Given the description of an element on the screen output the (x, y) to click on. 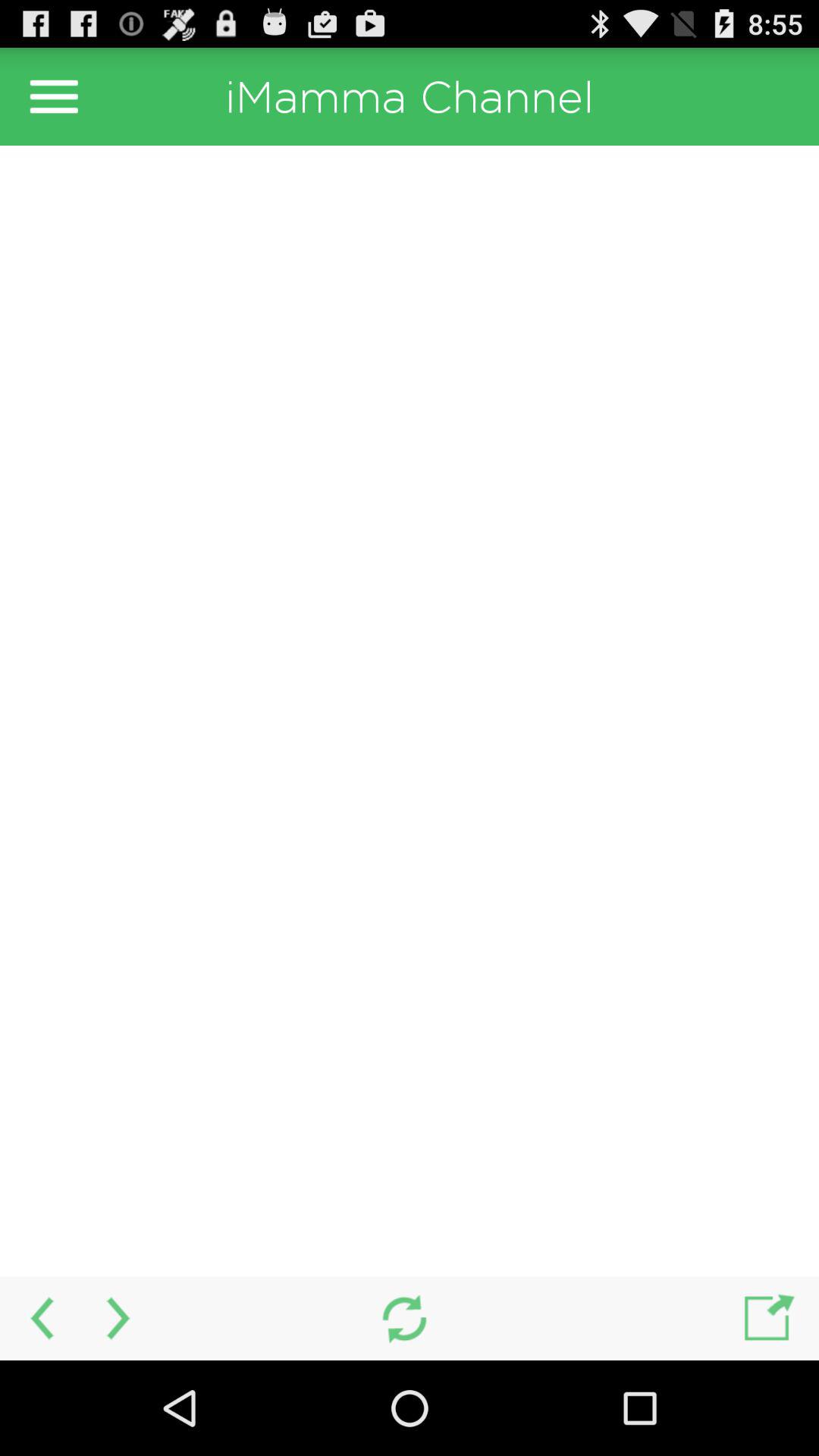
refresh (404, 1318)
